Given the description of an element on the screen output the (x, y) to click on. 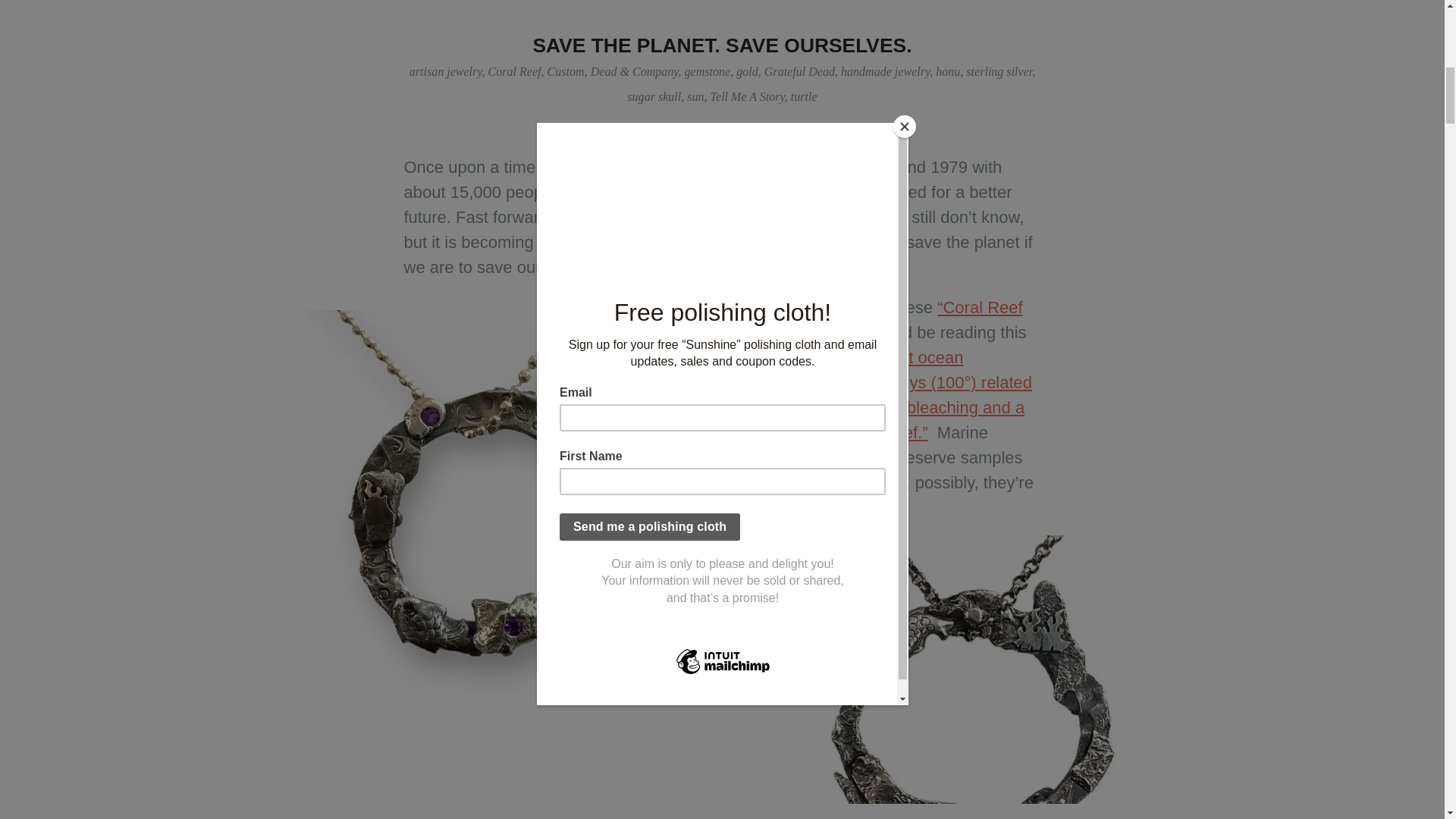
sugar skull (654, 96)
Coral Reef (514, 71)
gemstone (707, 71)
Grateful Dead (799, 71)
honu (947, 71)
Tell Me A Story (747, 96)
SAVE THE PLANET. SAVE OURSELVES. (721, 45)
sterling silver (999, 71)
artisan jewelry (445, 71)
sun (695, 96)
handmade jewelry (885, 71)
Custom (566, 71)
gold (747, 71)
